Given the description of an element on the screen output the (x, y) to click on. 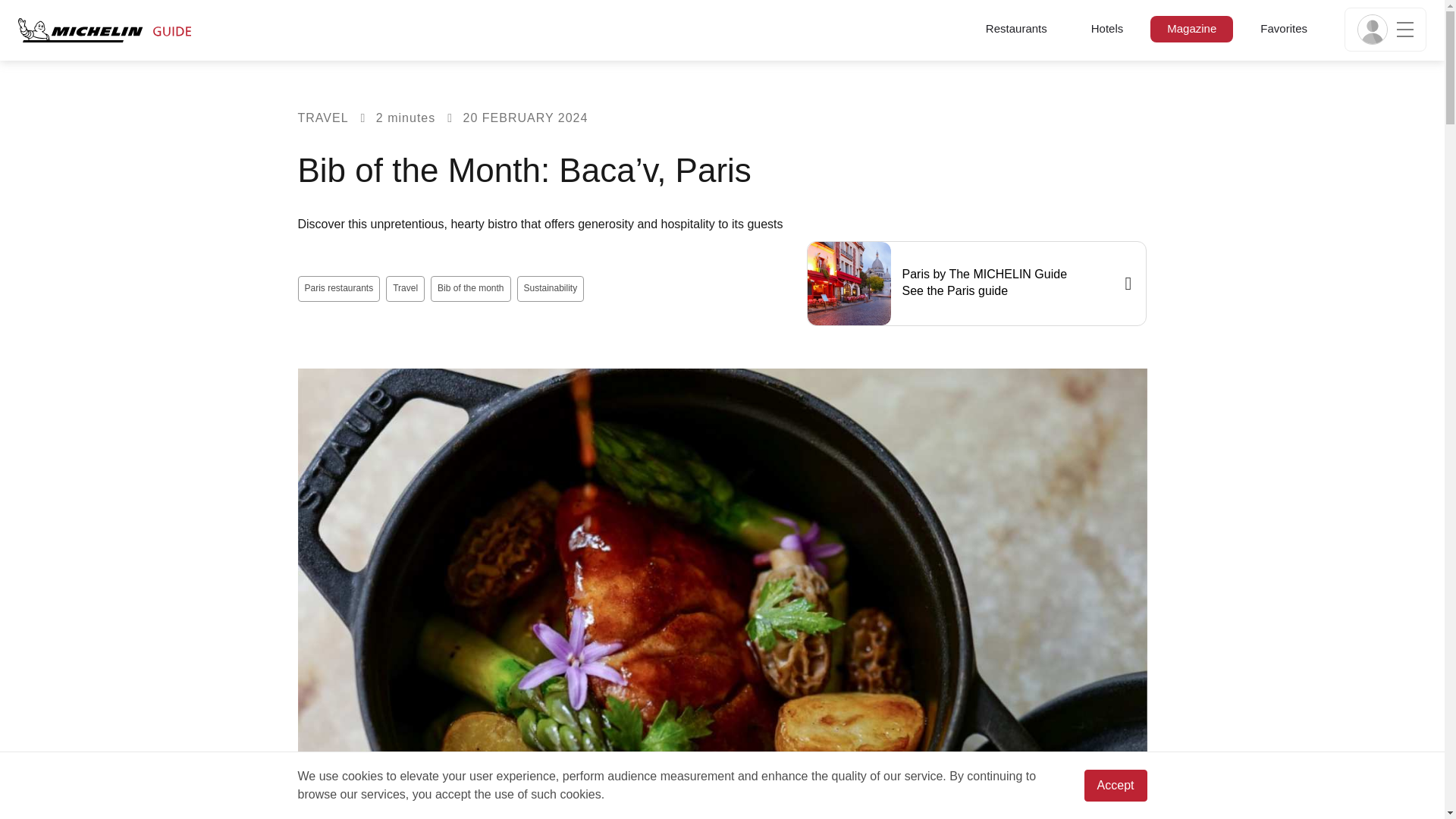
Travel (405, 288)
Sustainability (550, 288)
Restaurants (1016, 28)
Favorites (1283, 28)
Bib of the month (470, 288)
Magazine (1191, 28)
Hotels (1107, 28)
Paris restaurants (338, 288)
